Given the description of an element on the screen output the (x, y) to click on. 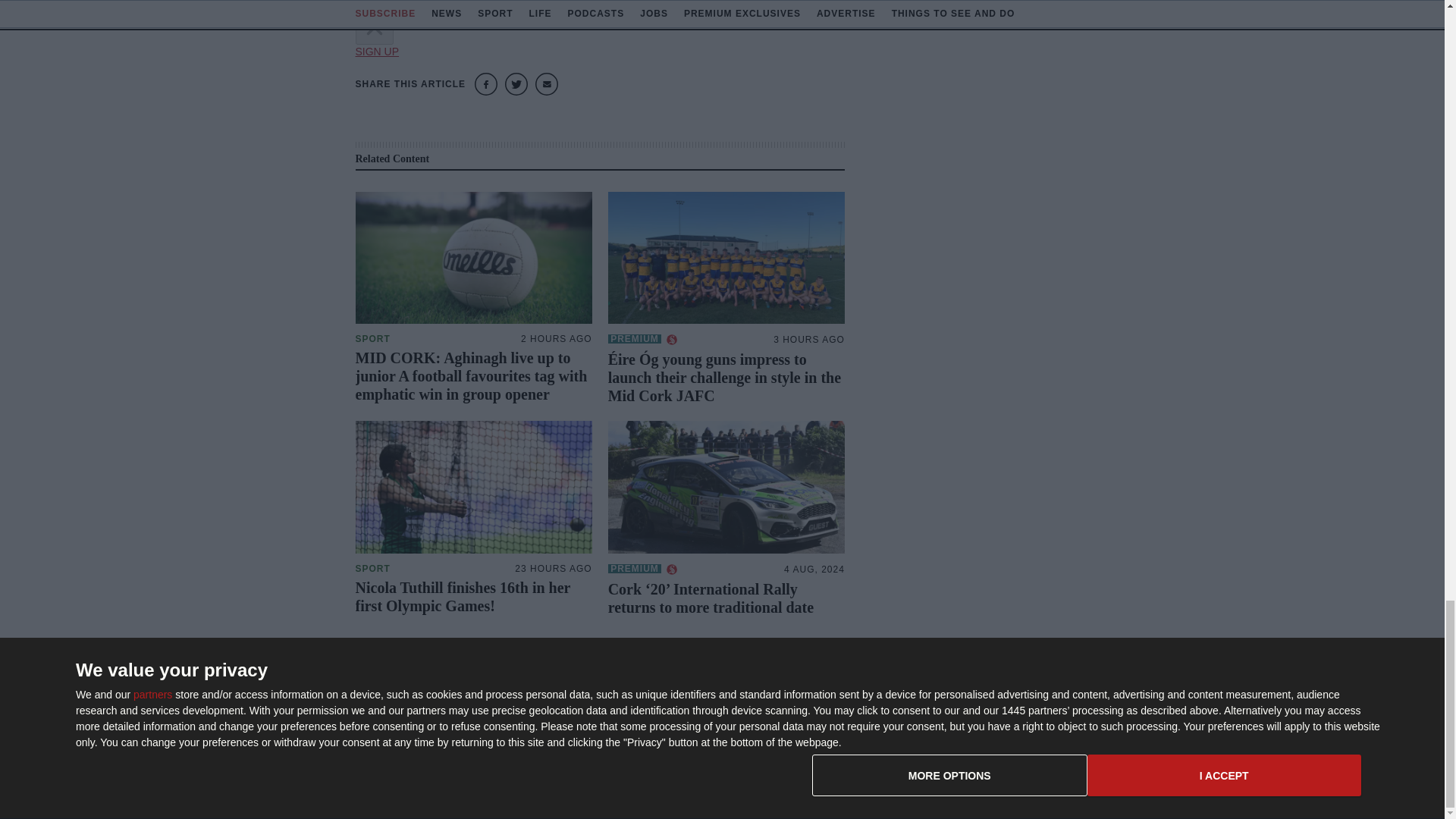
Southern Star Ltd. logo (430, 702)
Archive (839, 745)
Learn A Language (864, 769)
Advertise With Us (863, 720)
ePaper (839, 696)
Comments Policy (1017, 745)
Contact Us (1002, 696)
